Given the description of an element on the screen output the (x, y) to click on. 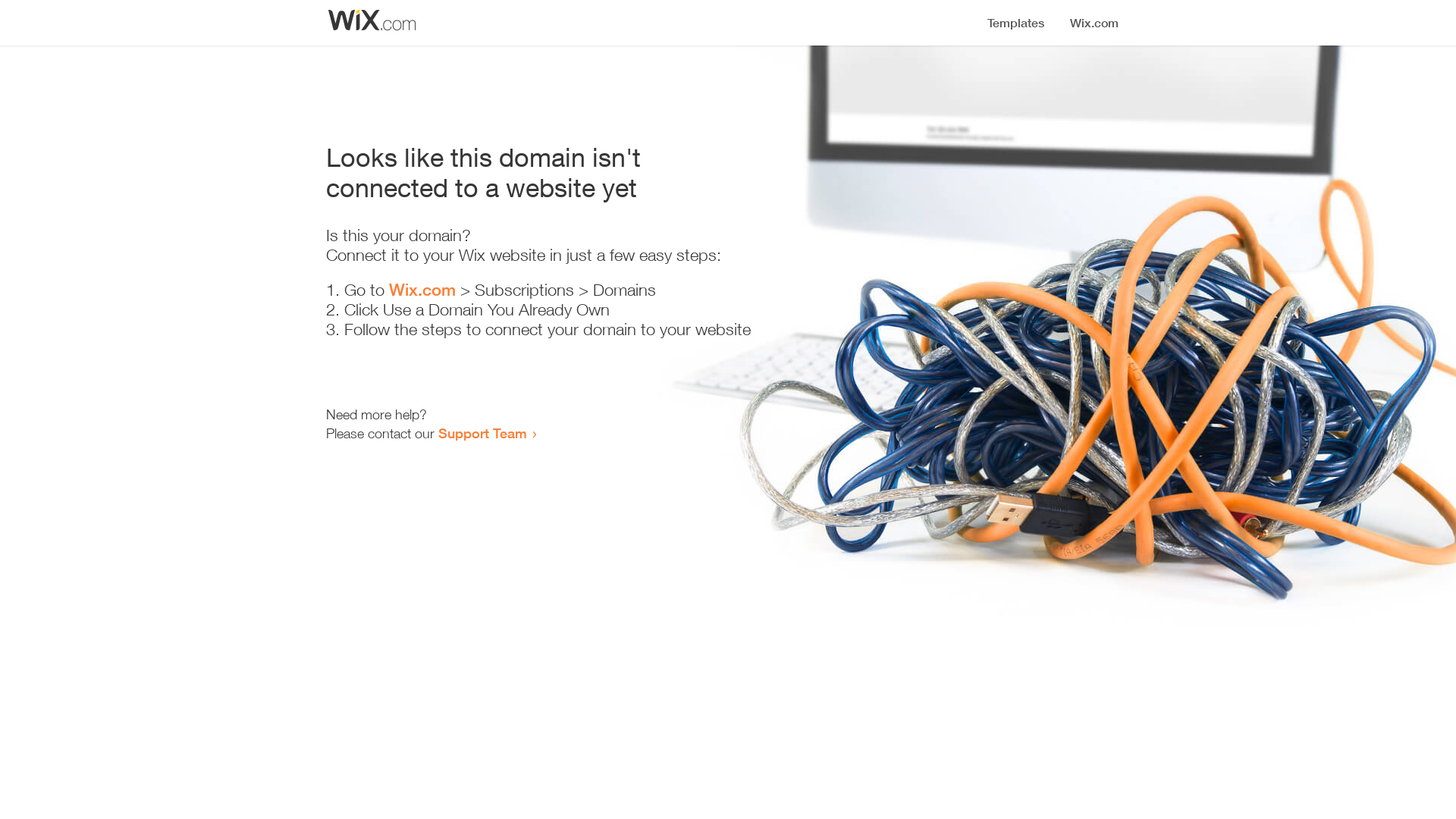
Wix.com Element type: text (422, 289)
Support Team Element type: text (482, 432)
